Given the description of an element on the screen output the (x, y) to click on. 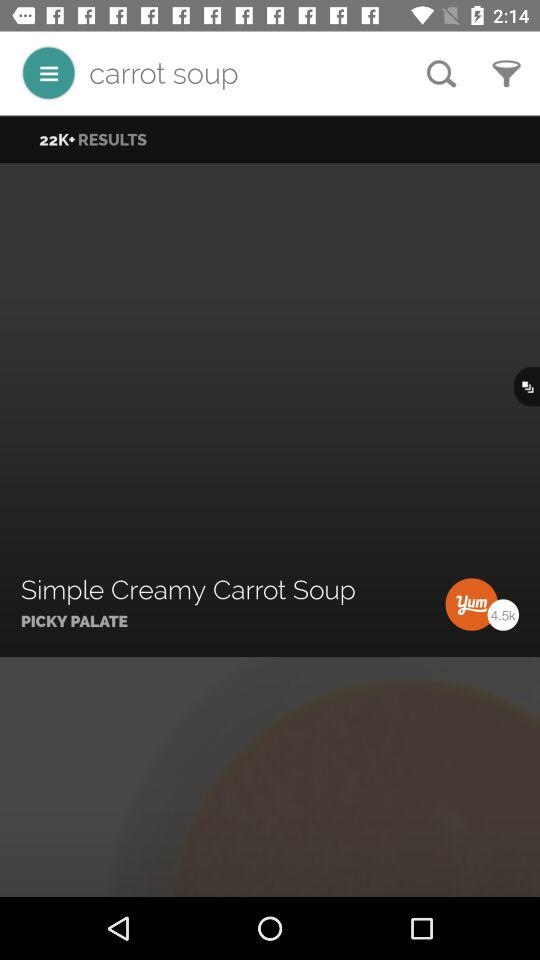
turn off the icon to the right of carrot soup icon (441, 73)
